Given the description of an element on the screen output the (x, y) to click on. 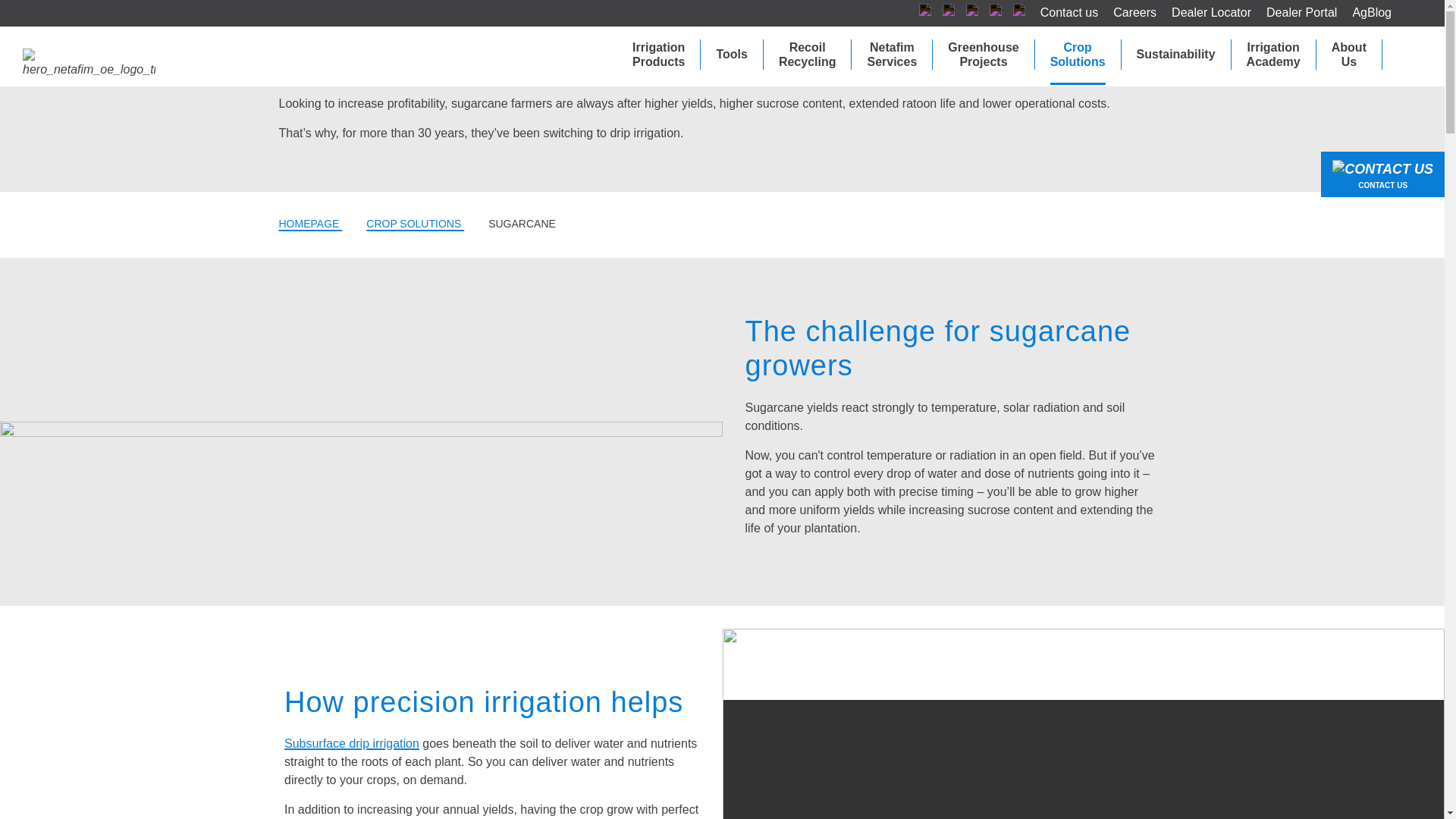
Netafim
Services Element type: text (891, 54)
Dealer Portal Element type: text (1293, 12)
Sustainability Element type: text (1175, 54)
Crop
Solutions Element type: text (1077, 54)
Tools Element type: text (730, 54)
Irrigation
Academy Element type: text (1273, 54)
Greenhouse
Projects Element type: text (982, 54)
Dealer Locator Element type: text (1203, 12)
Careers Element type: text (1127, 12)
About
Us Element type: text (1348, 54)
HOMEPAGE Element type: text (310, 223)
Contact us Element type: text (1061, 12)
Subsurface drip irrigation Element type: text (351, 743)
CONTACT US Element type: text (1382, 174)
CROP SOLUTIONS Element type: text (415, 223)
Recoil
Recycling Element type: text (807, 54)
AgBlog Element type: text (1363, 12)
Irrigation
Products Element type: text (658, 54)
